Given the description of an element on the screen output the (x, y) to click on. 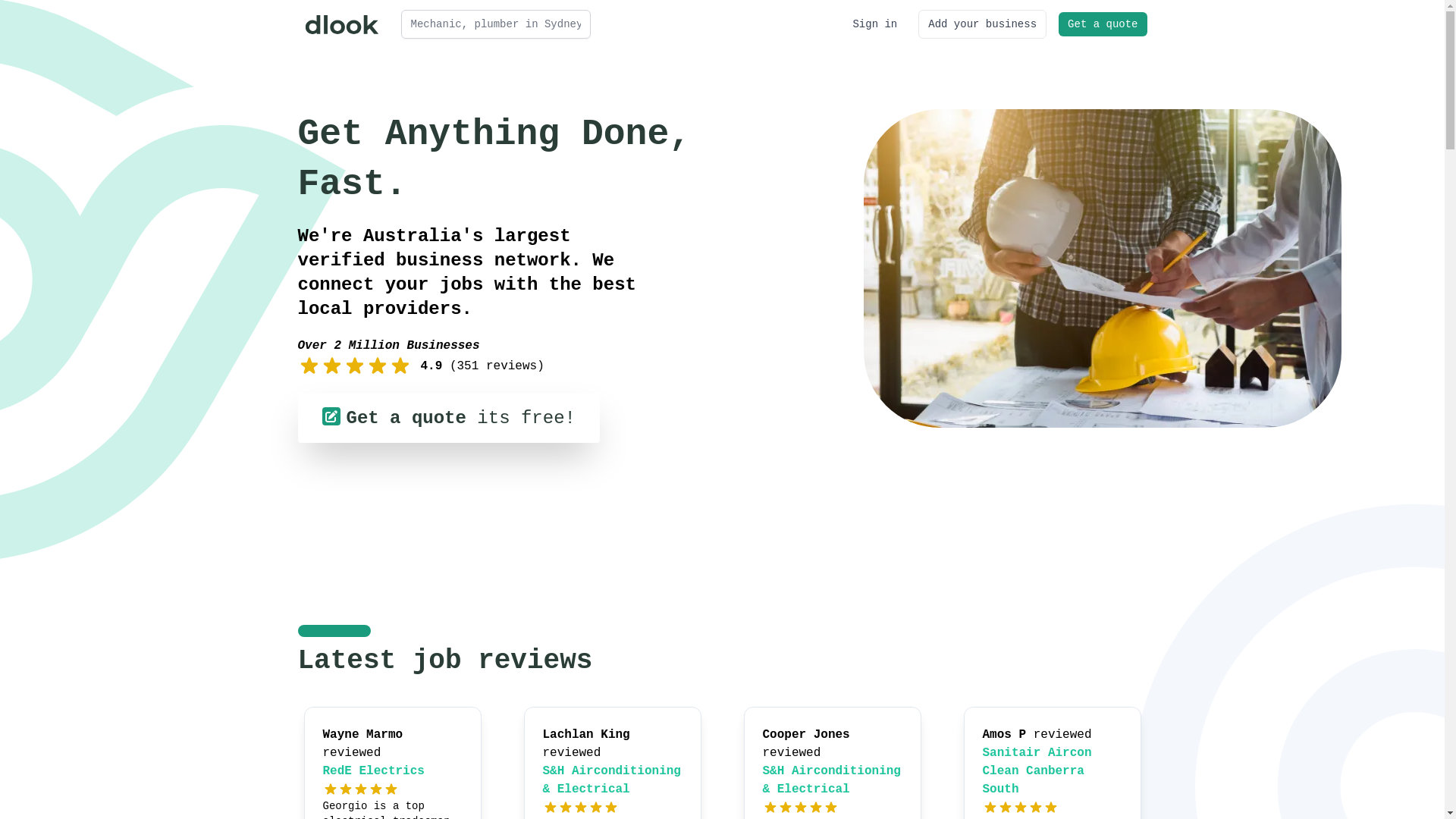
Sanitair Aircon Clean Canberra South Element type: text (1037, 771)
Get a quote its free! Element type: text (448, 417)
S&H Airconditioning & Electrical Element type: text (611, 780)
Add your business Element type: text (982, 23)
Sign in Element type: text (874, 23)
Get a quote Element type: text (1102, 24)
S&H Airconditioning & Electrical Element type: text (831, 780)
RedE Electrics Element type: text (373, 771)
